Given the description of an element on the screen output the (x, y) to click on. 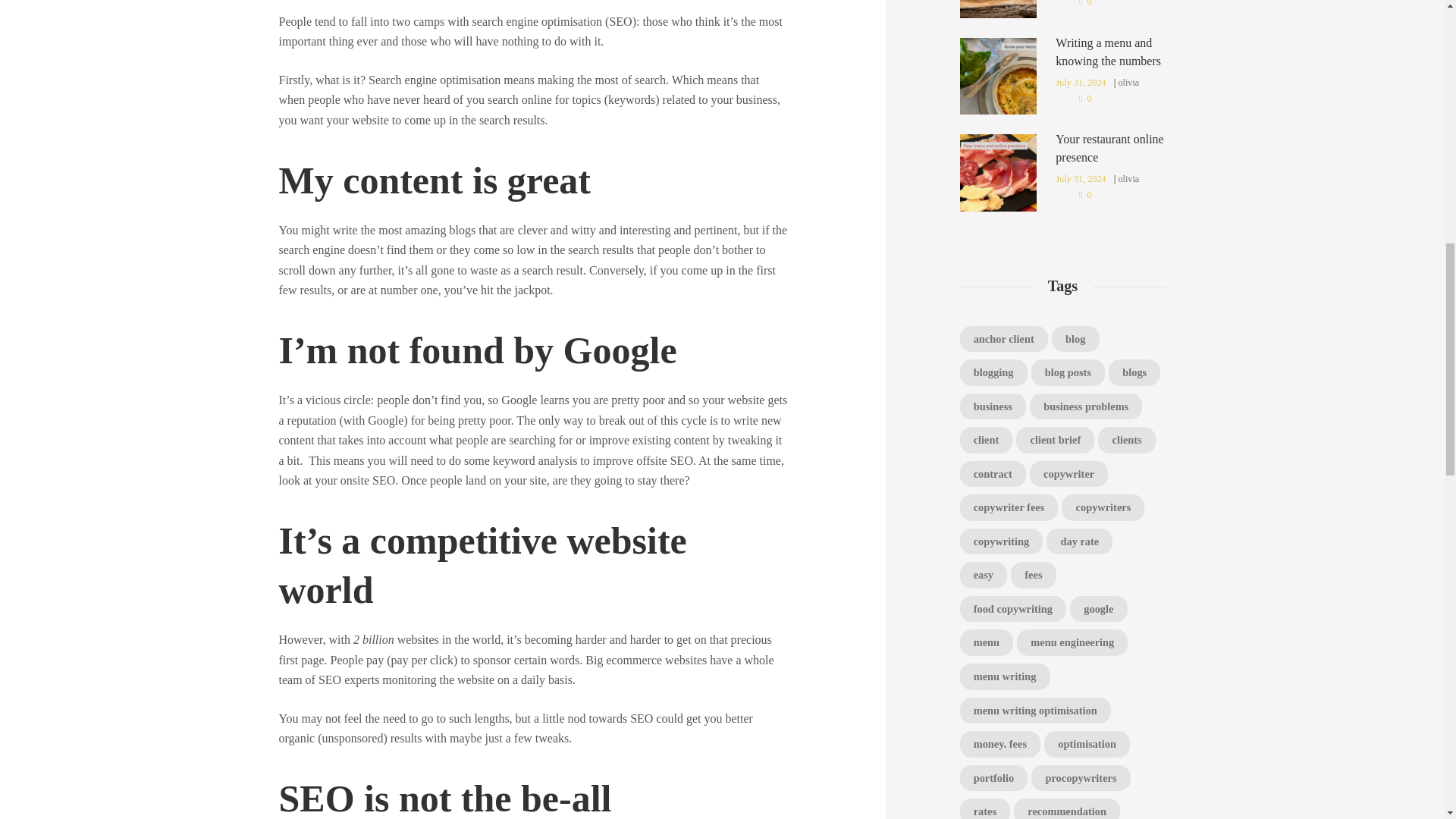
July 31, 2024 (1080, 178)
0 (1085, 4)
olivia (1128, 81)
Your restaurant online presence (1109, 147)
Writing a menu and knowing the numbers (1107, 51)
olivia (1128, 178)
July 31, 2024 (1080, 81)
